Given the description of an element on the screen output the (x, y) to click on. 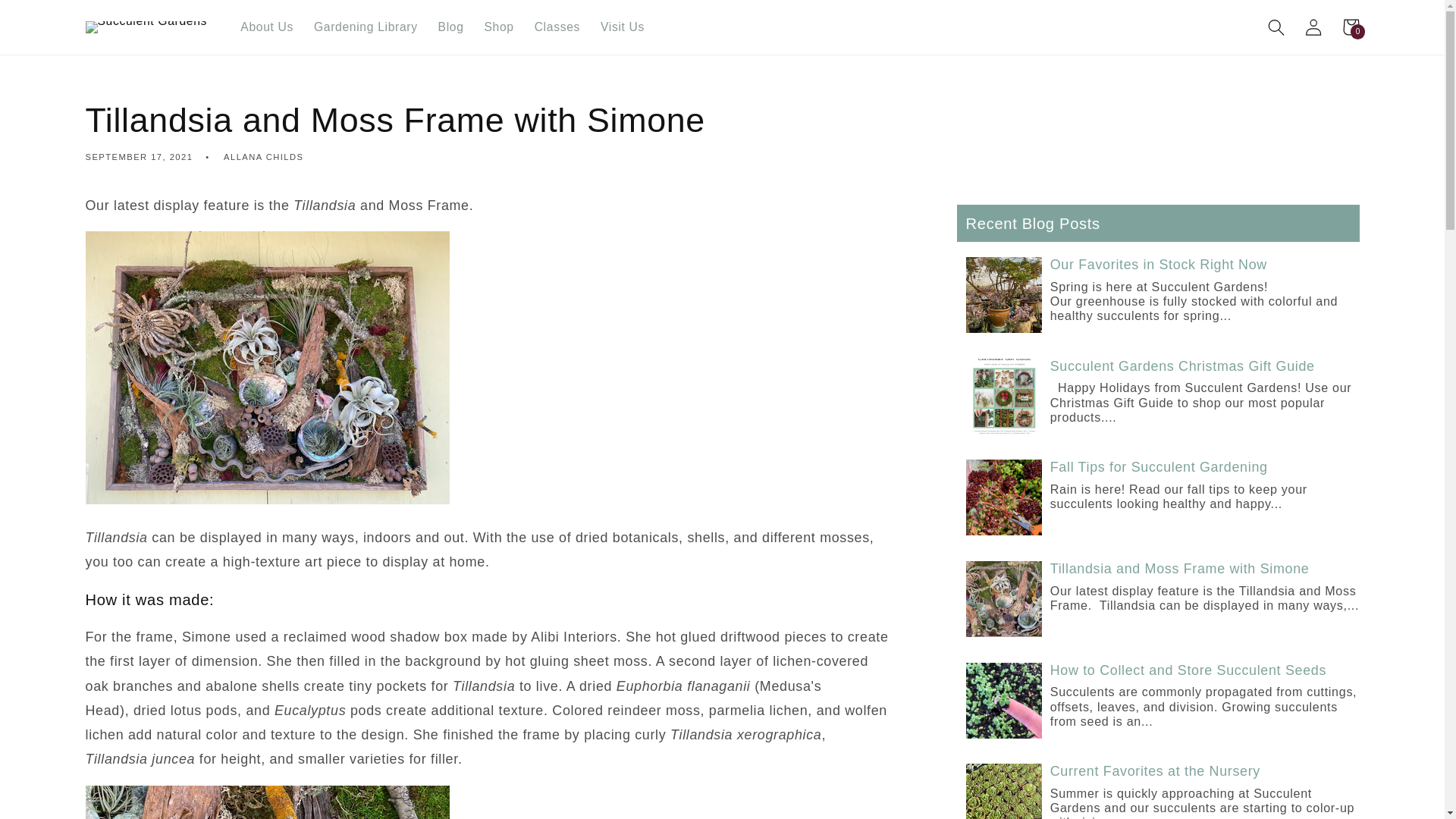
Skip to content (50, 18)
Gardening Library (366, 27)
Classes (1351, 26)
About Us (556, 27)
Visit Us (267, 27)
